Given the description of an element on the screen output the (x, y) to click on. 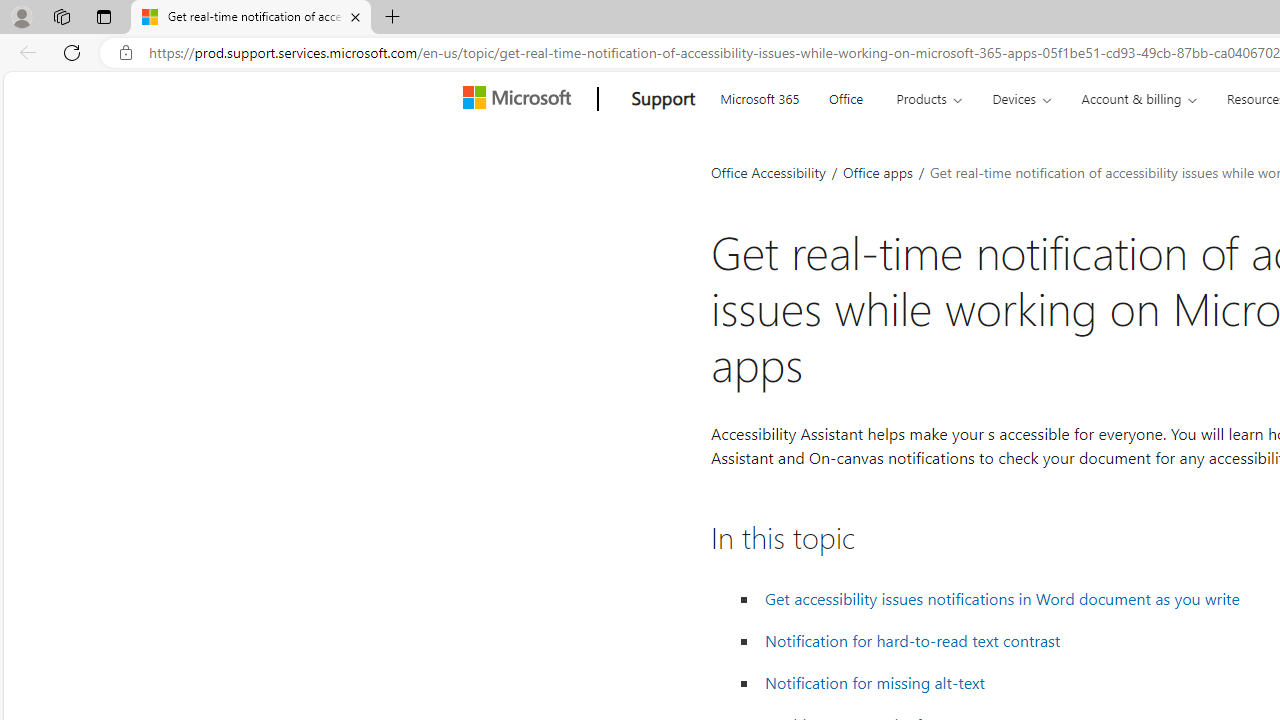
Microsoft 365 (759, 96)
Office (845, 96)
Refresh (72, 52)
Office Accessibility (767, 172)
Personal Profile (21, 16)
Back (24, 52)
Office apps  (879, 172)
 Notification for hard-to-read text contrast (913, 641)
Support (663, 99)
View site information (125, 53)
